Given the description of an element on the screen output the (x, y) to click on. 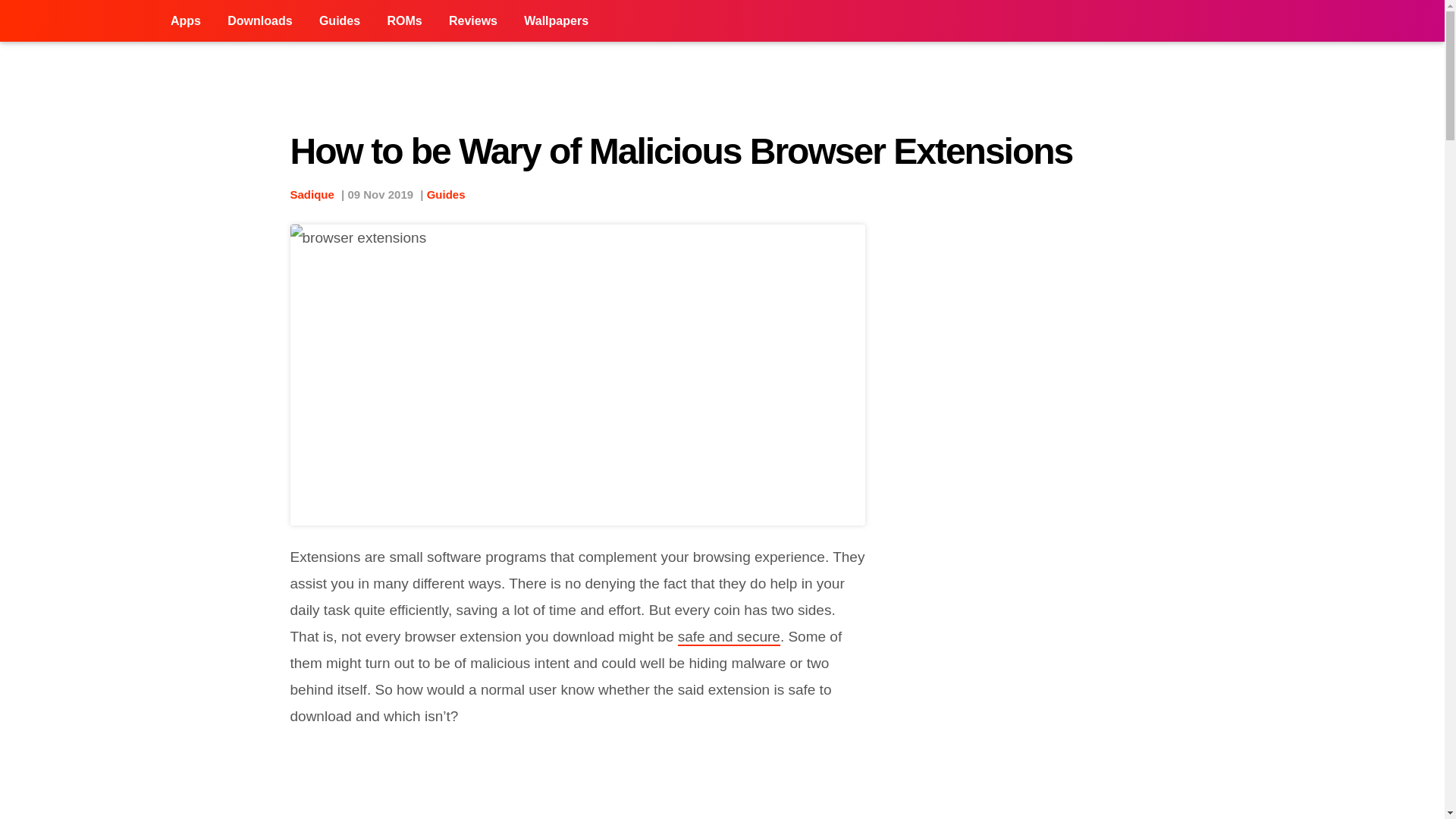
Sadique (311, 194)
Guides (445, 194)
safe and secure (729, 637)
Downloads (258, 20)
Guides (339, 20)
Reviews (473, 20)
Wallpapers (555, 20)
ROMs (403, 20)
DroidViews (79, 20)
Apps (185, 20)
